Given the description of an element on the screen output the (x, y) to click on. 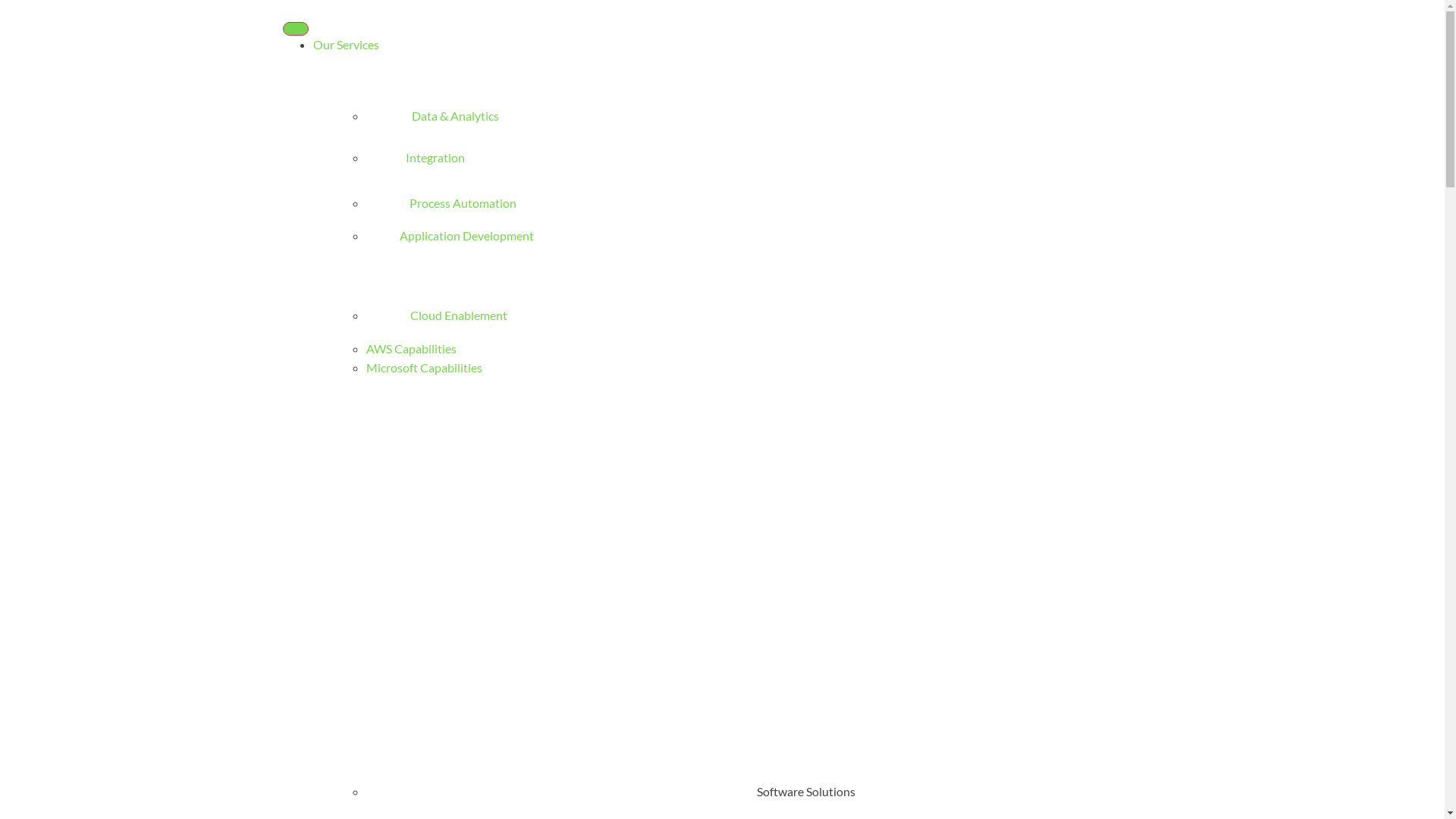
Microsoft Capabilities Element type: text (423, 367)
Cloud Enablement Element type: text (435, 314)
Our Services Element type: text (345, 44)
Data & Analytics Element type: text (431, 115)
AWS Capabilities Element type: text (410, 348)
Application Development Element type: text (449, 235)
Integration Element type: text (414, 157)
Process Automation Element type: text (440, 202)
